Given the description of an element on the screen output the (x, y) to click on. 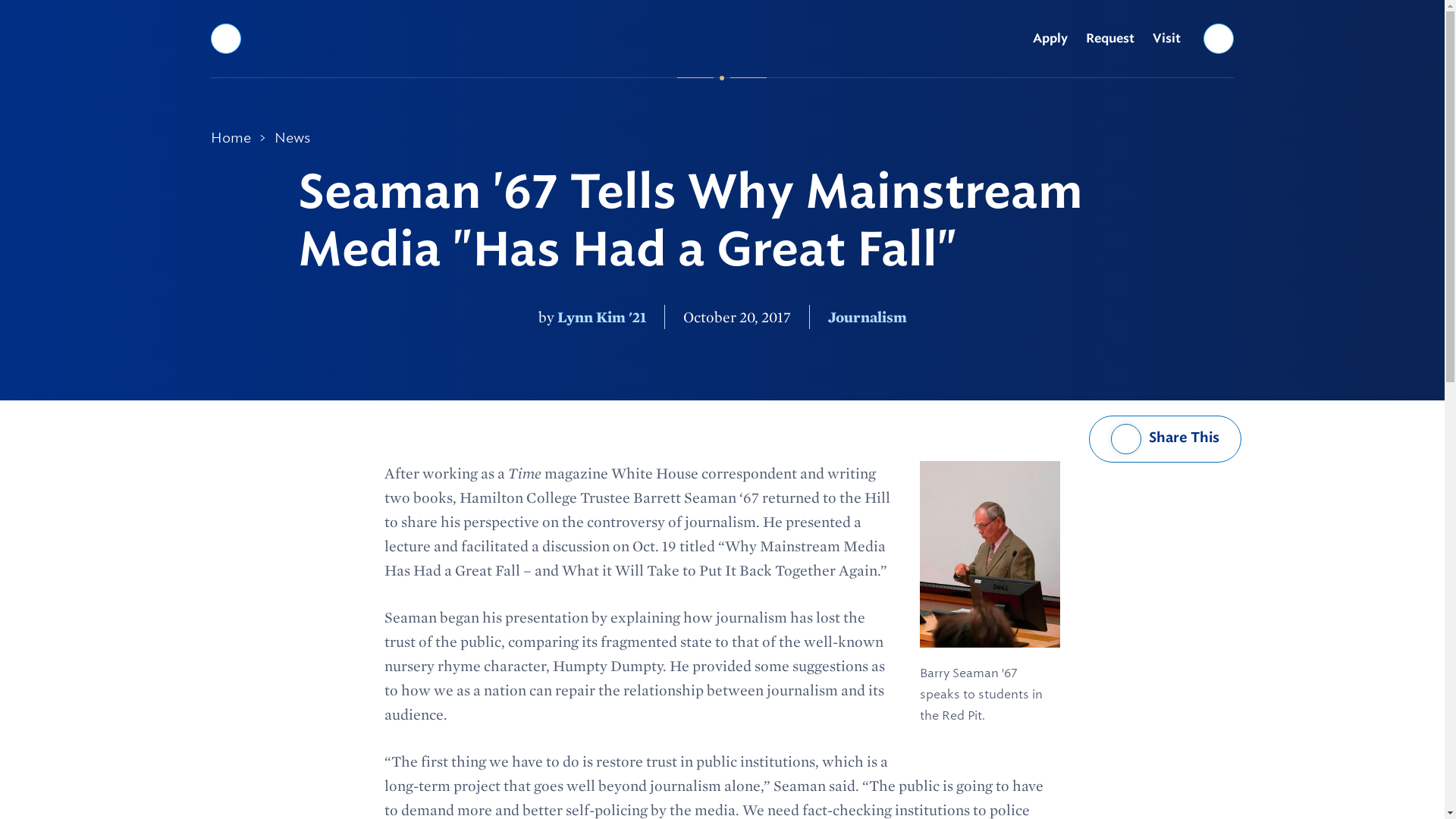
Search (1218, 38)
Lynn Kim '21 (600, 316)
Visit (1165, 38)
Menu (225, 38)
Home (231, 138)
Apply (1050, 38)
News (291, 138)
Request (1109, 38)
Share This (1165, 438)
Journalism (867, 316)
Hamilton (721, 38)
